Given the description of an element on the screen output the (x, y) to click on. 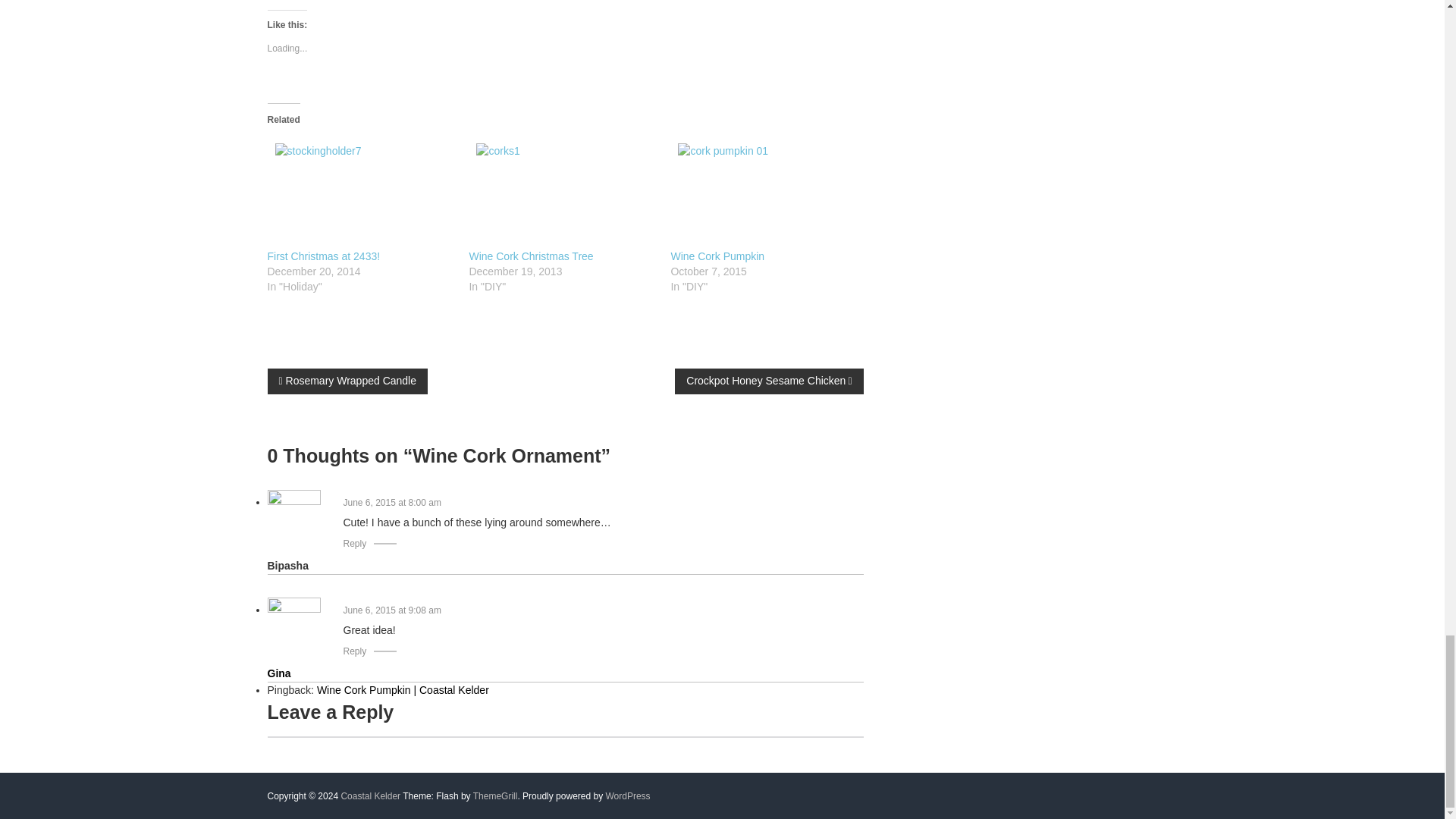
Reply (354, 543)
Wine Cork Pumpkin (716, 256)
First Christmas at 2433! (323, 256)
Reply (354, 651)
June 6, 2015 at 9:08 am (391, 610)
June 6, 2015 at 8:00 am (391, 502)
Wine Cork Christmas Tree (530, 256)
Wine Cork Pumpkin (716, 256)
Wine Cork Christmas Tree (561, 191)
Crockpot Honey Sesame Chicken (769, 380)
First Christmas at 2433! (359, 191)
Wine Cork Pumpkin (763, 191)
First Christmas at 2433! (323, 256)
Rosemary Wrapped Candle (347, 380)
